Given the description of an element on the screen output the (x, y) to click on. 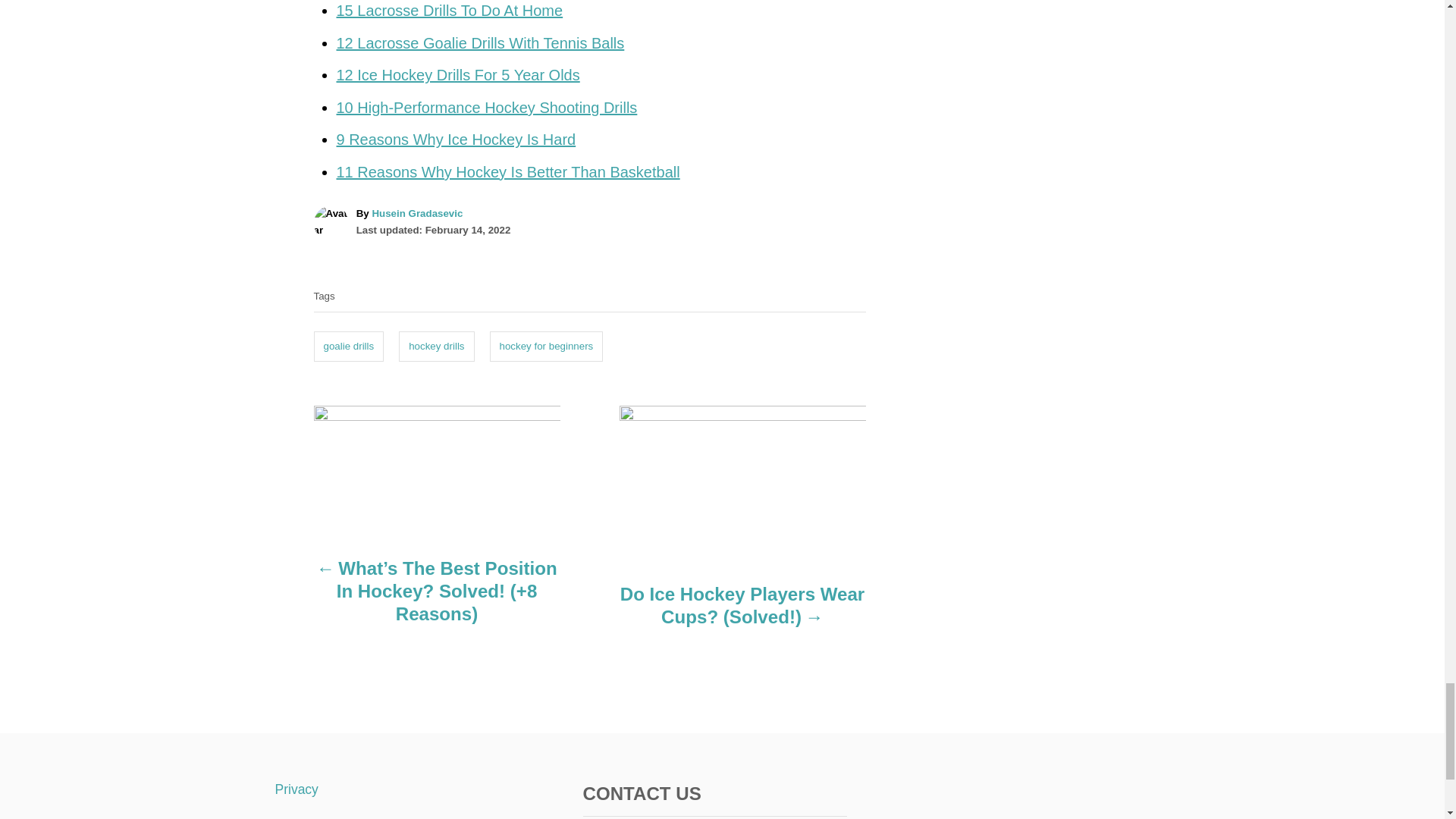
hockey for beginners (546, 346)
11 Reasons Why Hockey Is Better Than Basketball (507, 171)
goalie drills (349, 346)
12 Ice Hockey Drills For 5 Year Olds (457, 74)
Husein Gradasevic (417, 213)
hockey drills (436, 346)
10 High-Performance Hockey Shooting Drills (486, 107)
9 Reasons Why Ice Hockey Is Hard (456, 139)
15 Lacrosse Drills To Do At Home (449, 10)
12 Lacrosse Goalie Drills With Tennis Balls (480, 43)
